Given the description of an element on the screen output the (x, y) to click on. 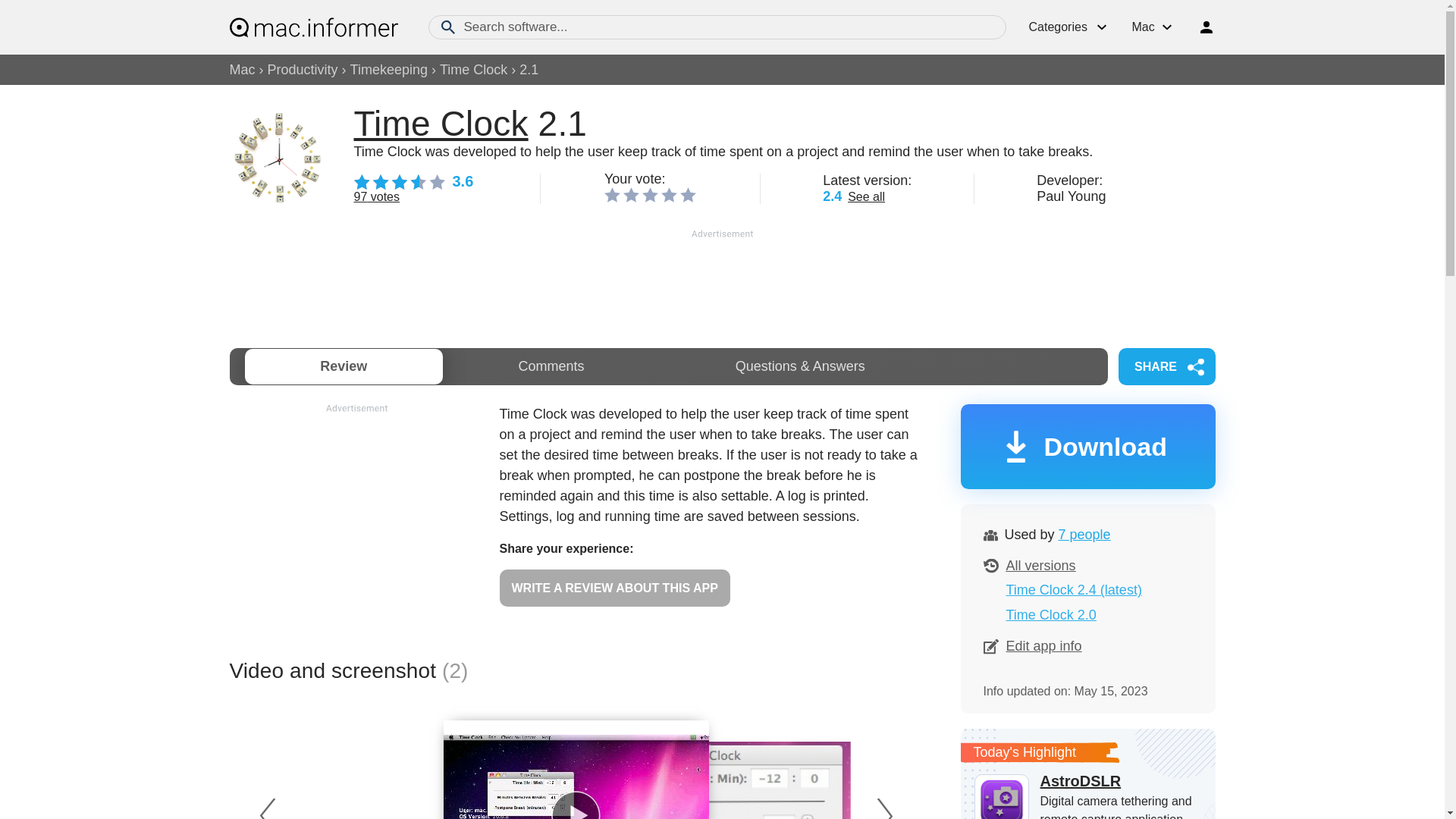
SHARE (1166, 366)
Time Clock (440, 122)
AstroDSLR (1087, 780)
Download (1086, 446)
5 (687, 193)
Mac (241, 69)
Software downloads and reviews (312, 26)
7 people (1084, 534)
video (574, 776)
2 (630, 193)
Advertisement (355, 522)
Download Time Clock (1086, 446)
Search software... (717, 27)
Comments (550, 366)
Review (343, 366)
